Given the description of an element on the screen output the (x, y) to click on. 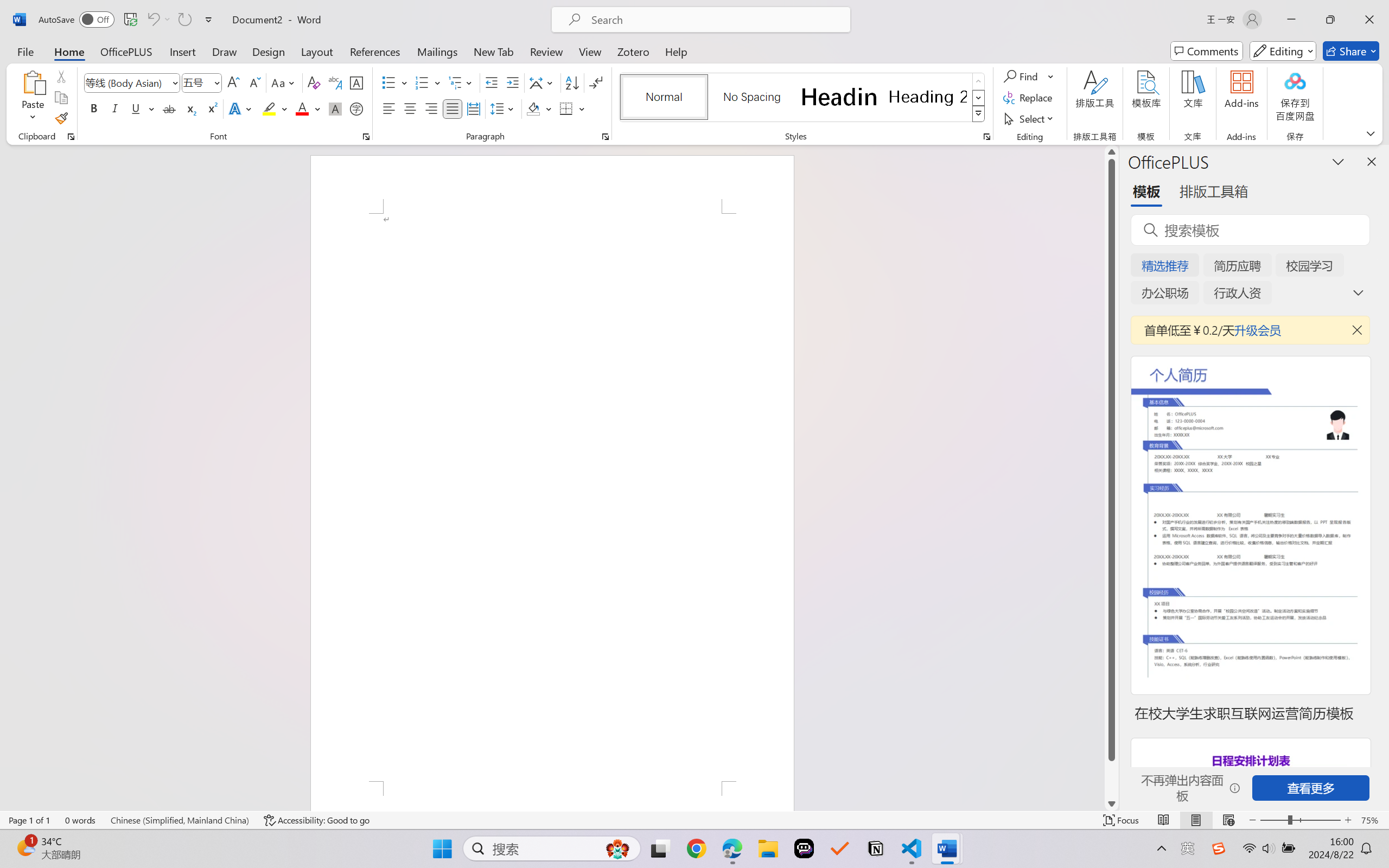
Font Size (201, 82)
References (375, 51)
Copy (60, 97)
Bold (94, 108)
Draw (224, 51)
Styles (978, 113)
Multilevel List (461, 82)
Insert (182, 51)
Font Size (196, 82)
Bullets (388, 82)
Task Pane Options (1338, 161)
Paste (33, 97)
